Given the description of an element on the screen output the (x, y) to click on. 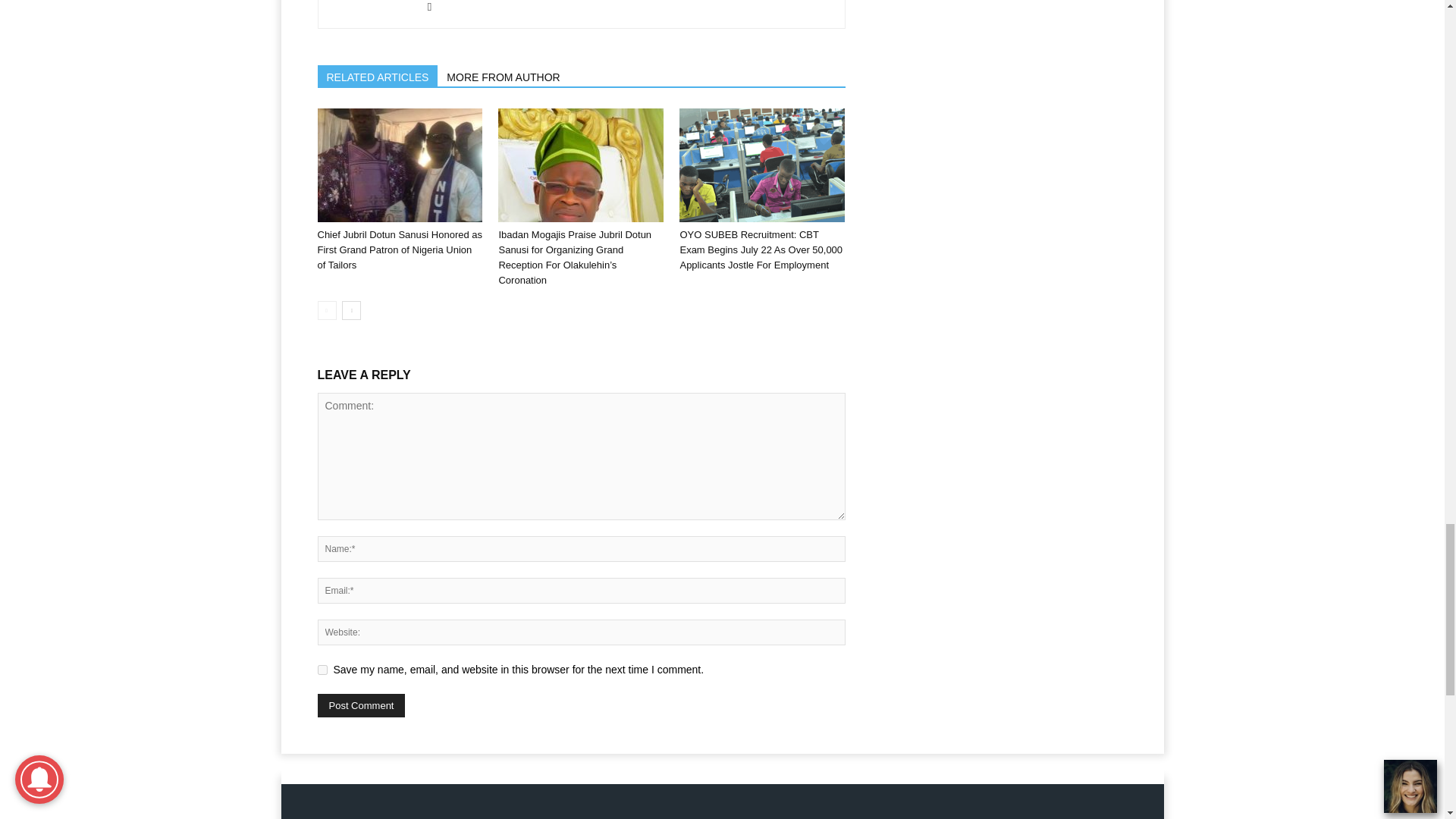
Post Comment (360, 705)
RELATED ARTICLES (377, 75)
MORE FROM AUTHOR (503, 75)
yes (321, 669)
